Given the description of an element on the screen output the (x, y) to click on. 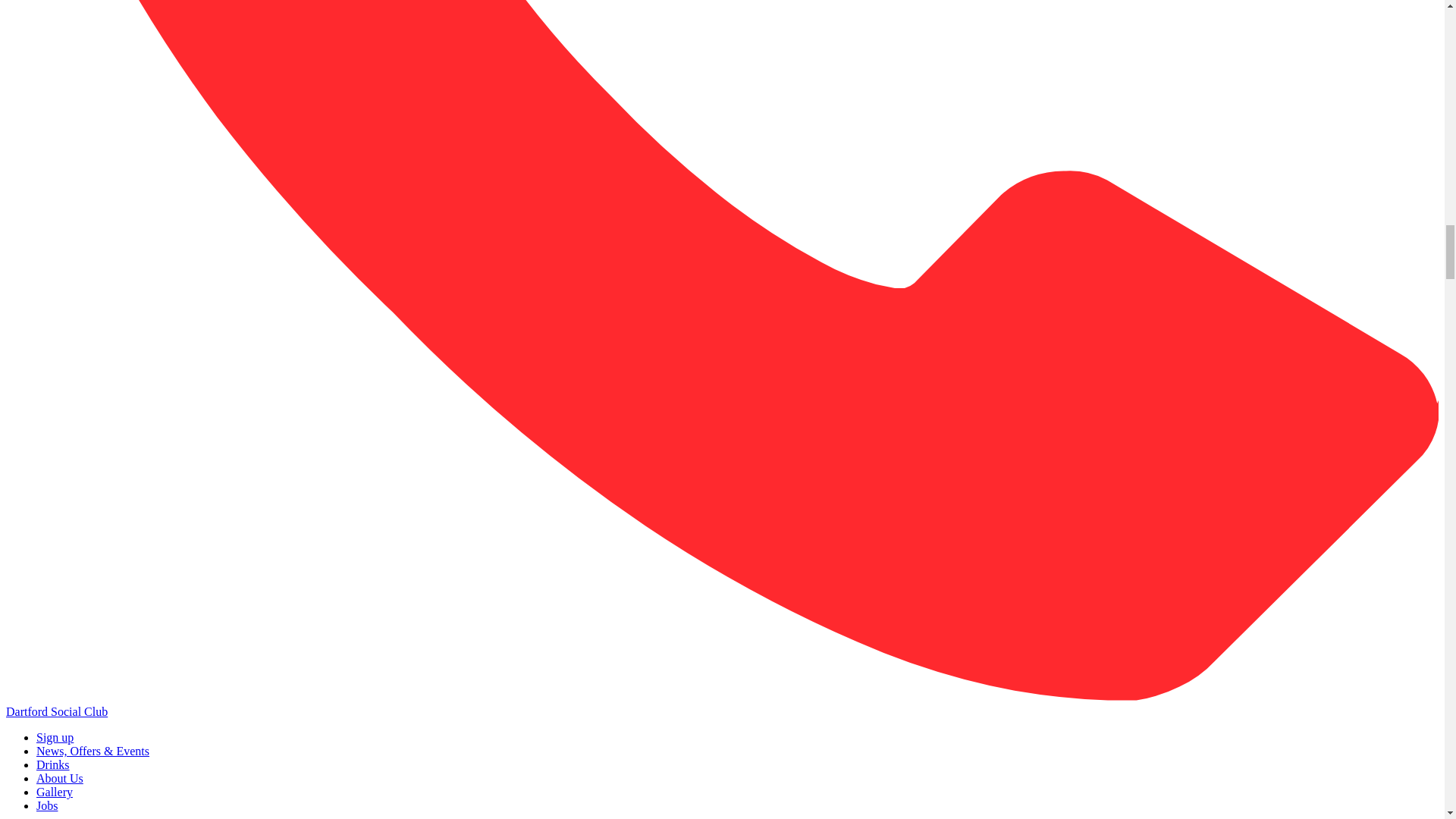
About Us (59, 778)
Jobs (47, 805)
Sign up (55, 737)
Gallery (54, 791)
Drinks (52, 764)
Dartford Social Club (56, 711)
